Given the description of an element on the screen output the (x, y) to click on. 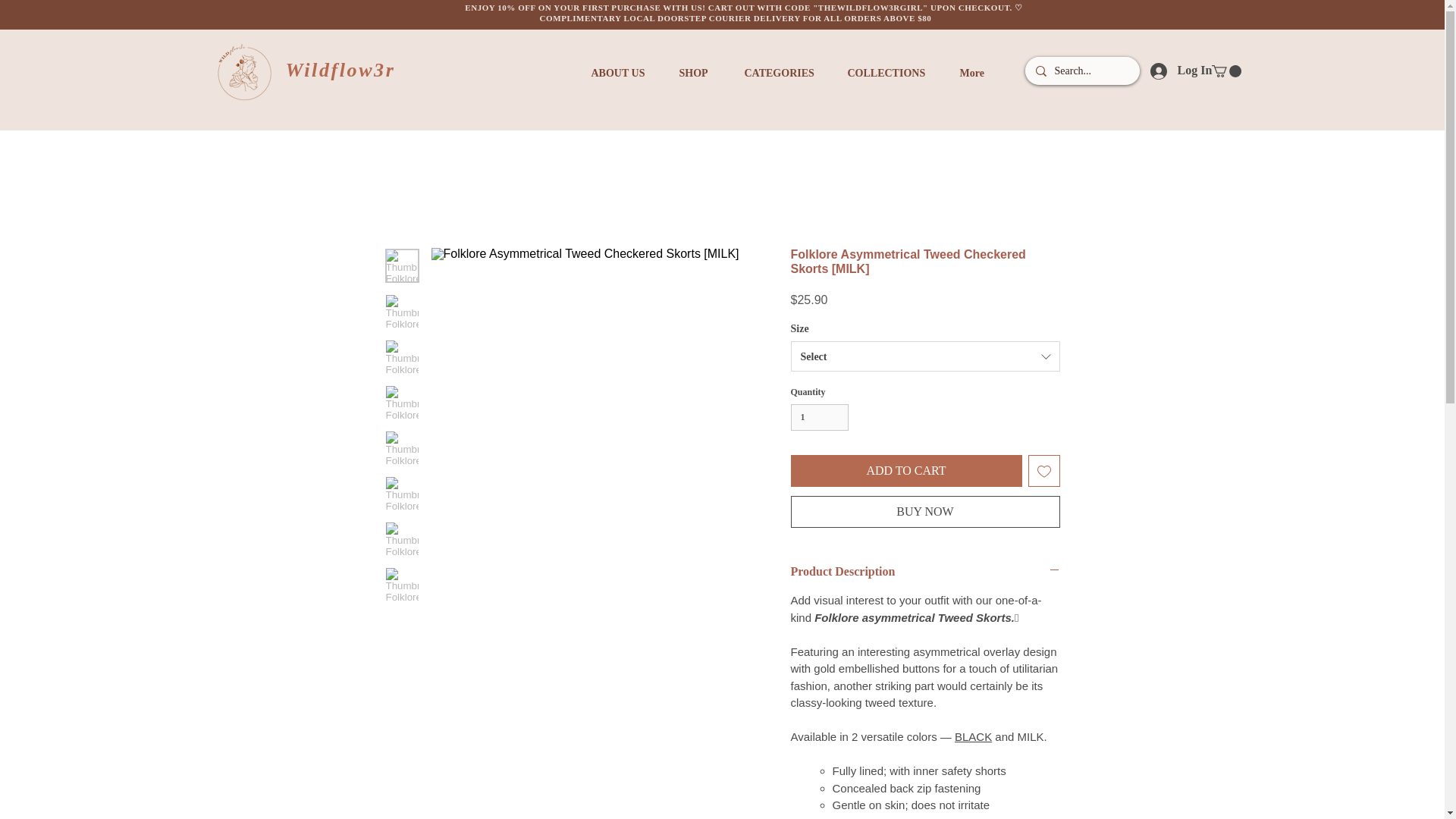
1 (818, 417)
Wildflow3r (339, 69)
